Given the description of an element on the screen output the (x, y) to click on. 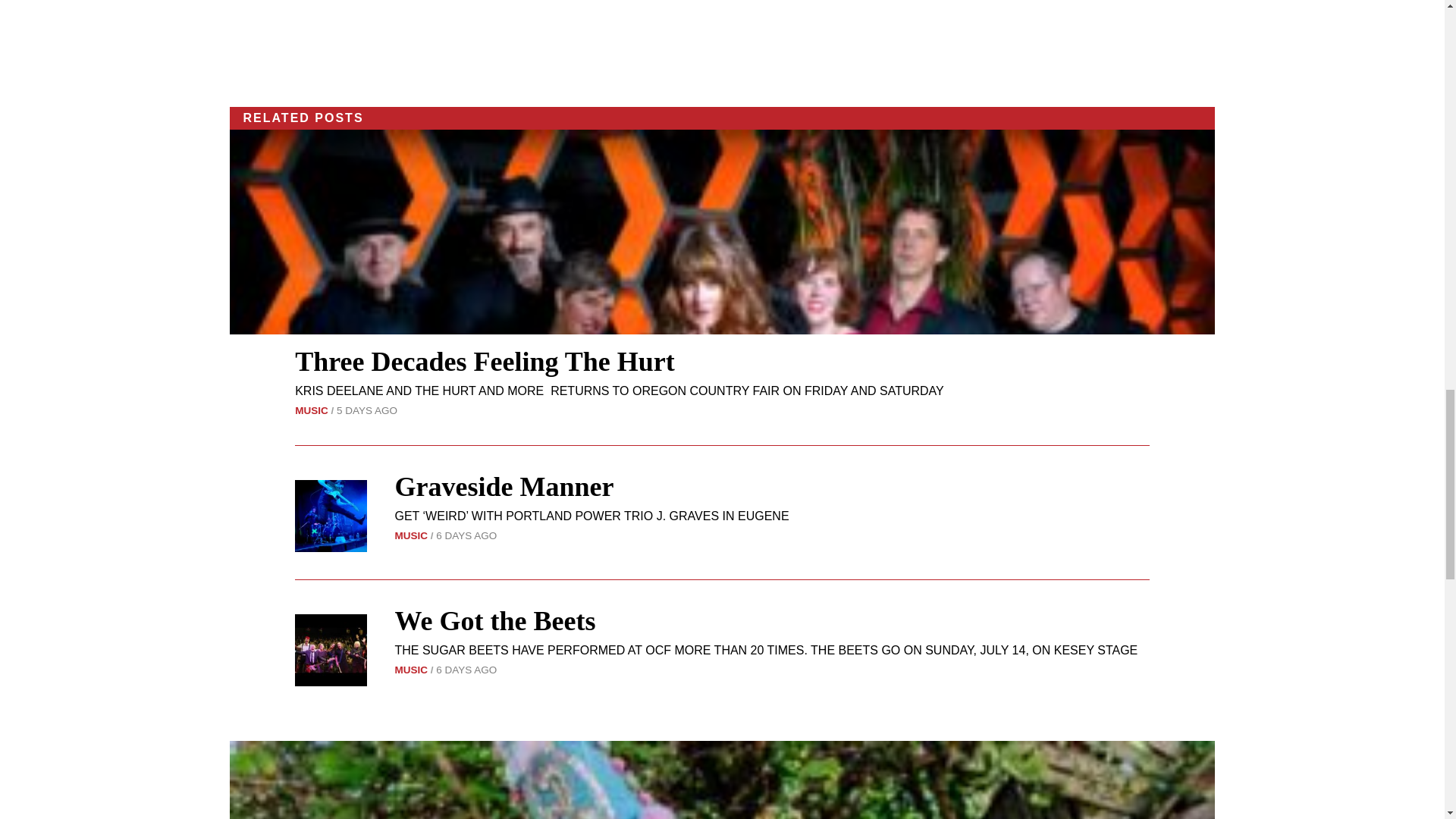
3rd party ad content (721, 43)
